Given the description of an element on the screen output the (x, y) to click on. 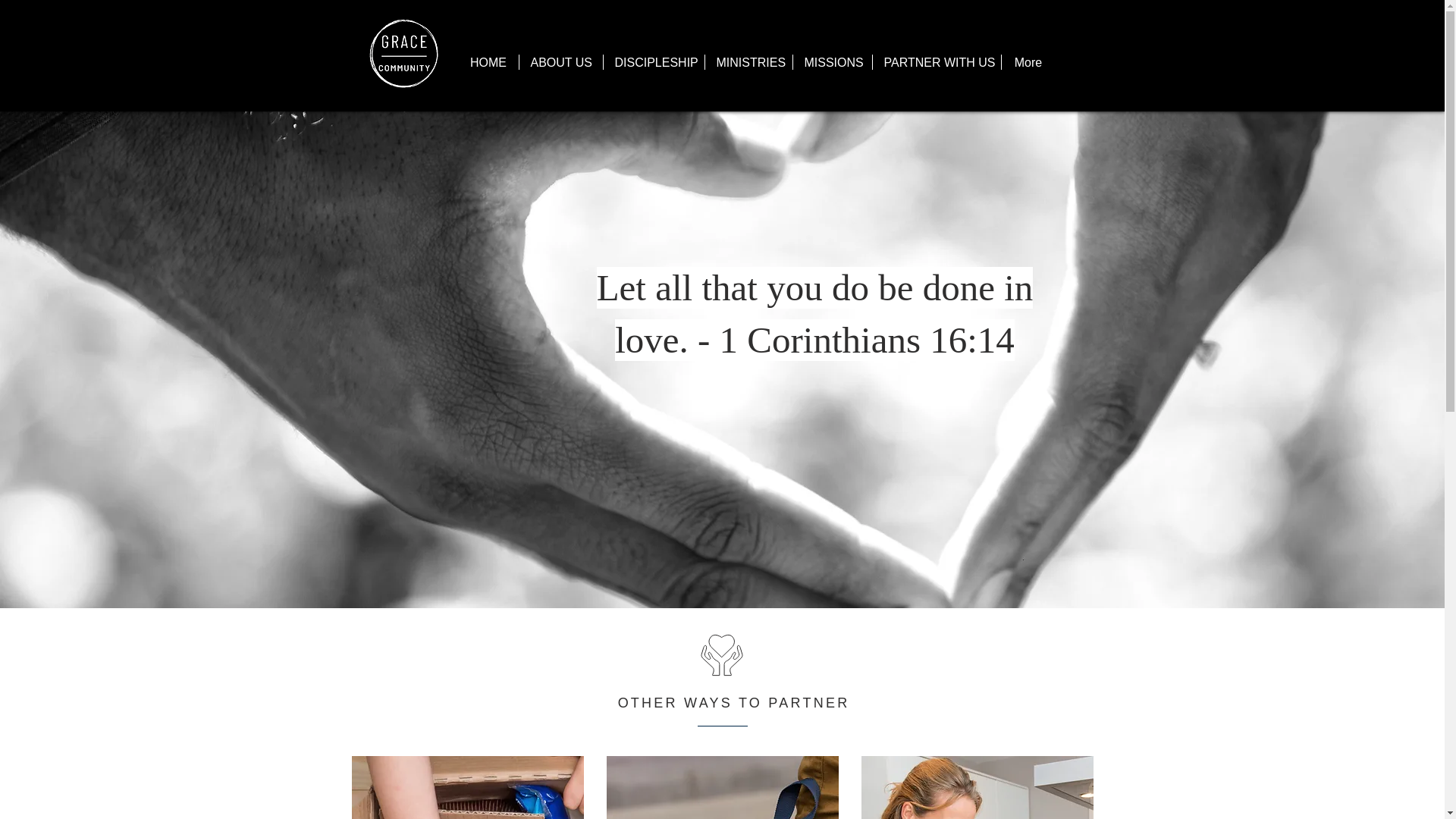
GRACE.png (403, 53)
PARTNER WITH US (936, 61)
HOME (488, 61)
MISSIONS (832, 61)
DISCIPLESHIP (654, 61)
